Given the description of an element on the screen output the (x, y) to click on. 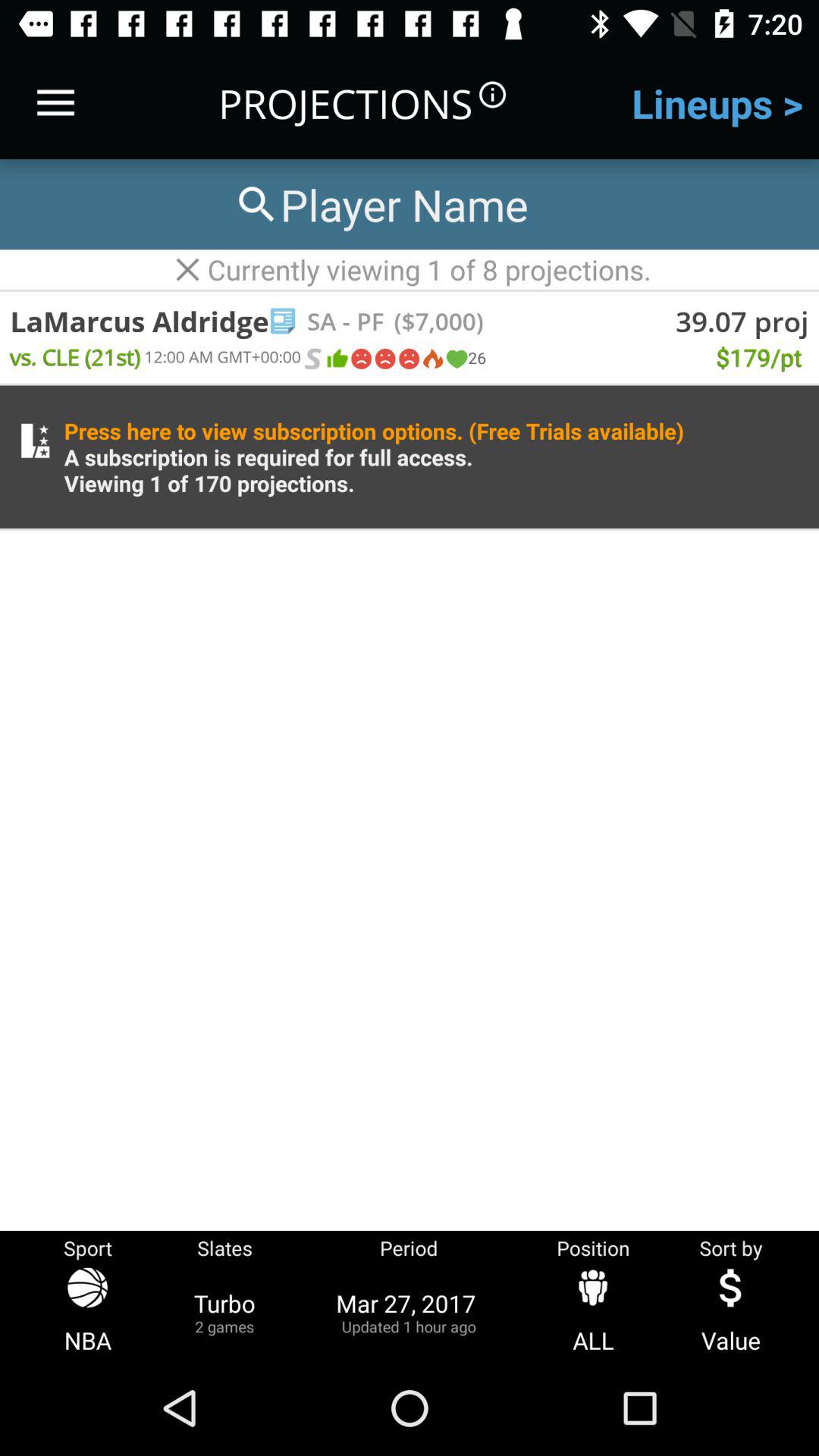
search for player name (380, 204)
